Given the description of an element on the screen output the (x, y) to click on. 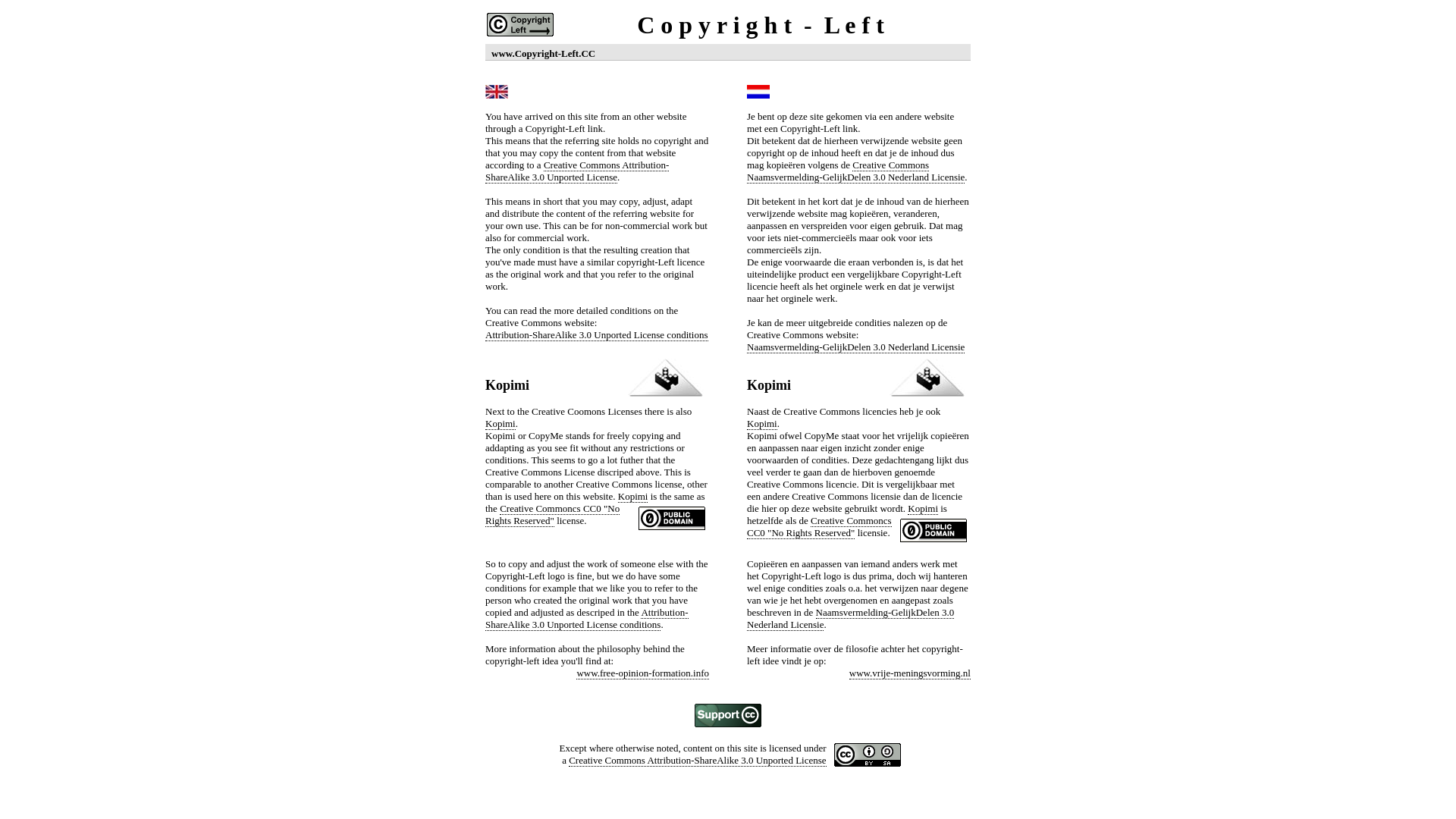
Creative Commons Attribution-ShareAlike 3.0 Unported License Element type: text (576, 171)
Creative Commons Attribution-ShareAlike 3.0 Unported License Element type: text (696, 760)
Kopimi Element type: text (633, 496)
Kopimi Element type: text (922, 508)
Naamsvermelding-GelijkDelen 3.0 Nederland Licensie Element type: text (855, 347)
Creative Commoncs CC0 "No Rights Reserved" Element type: text (552, 514)
Naamsvermelding-GelijkDelen 3.0 Nederland Licensie Element type: text (849, 618)
Kopimi Element type: text (500, 423)
Creative Commoncs CC0 "No Rights Reserved" Element type: text (818, 526)
www.vrije-meningsvorming.nl Element type: text (909, 673)
www.free-opinion-formation.info Element type: text (642, 673)
Attribution-ShareAlike 3.0 Unported License conditions Element type: text (586, 618)
Kopimi Element type: text (761, 423)
Attribution-ShareAlike 3.0 Unported License conditions Element type: text (596, 335)
